Given the description of an element on the screen output the (x, y) to click on. 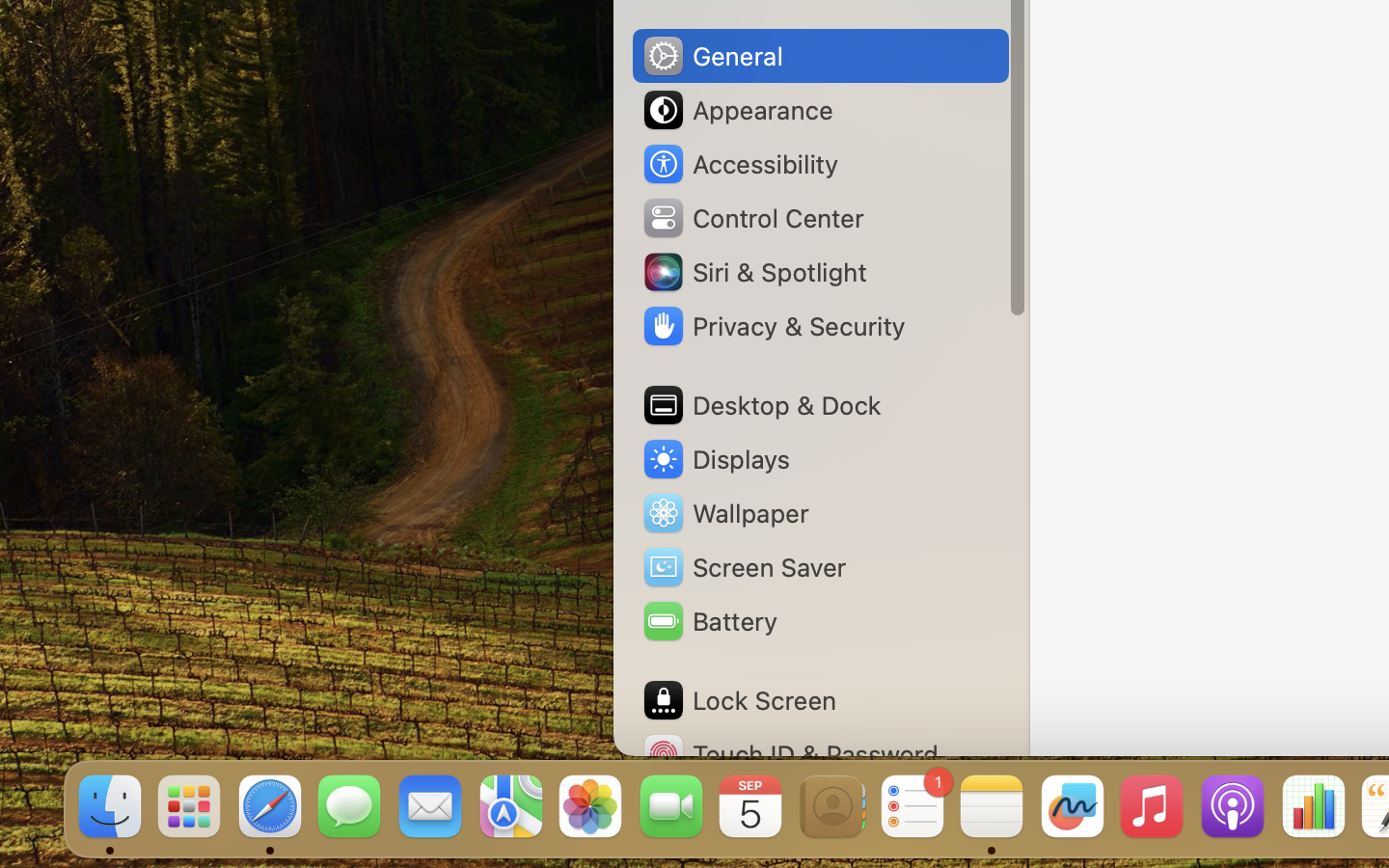
General Element type: AXStaticText (711, 55)
Displays Element type: AXStaticText (715, 458)
Appearance Element type: AXStaticText (736, 109)
